Given the description of an element on the screen output the (x, y) to click on. 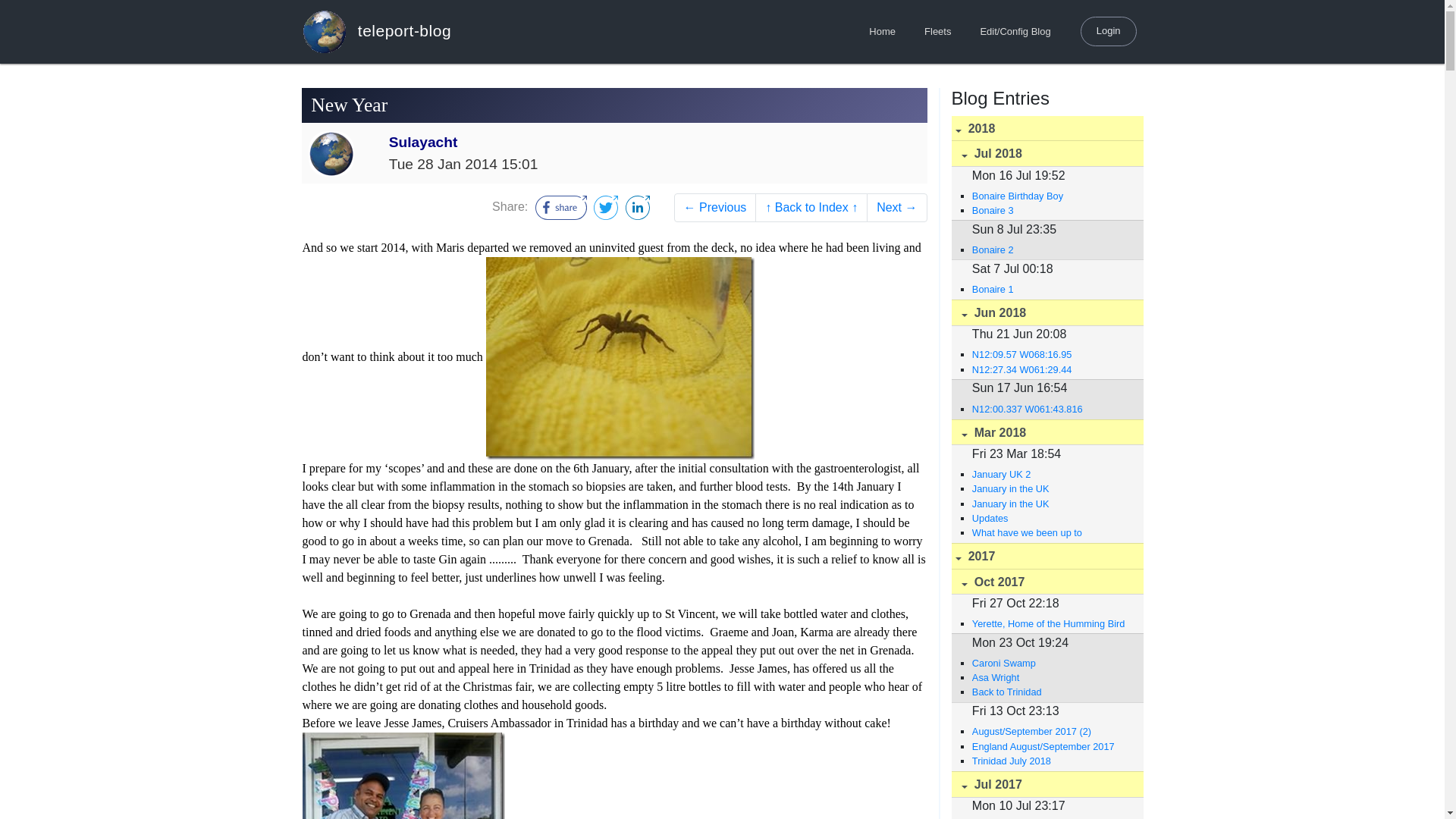
Mar 2018 (1046, 432)
Bonaire Birthday Boy (1050, 196)
N12:27.34 W061:29.44 (1050, 369)
January in the UK (1050, 488)
Bonaire 3 (1050, 210)
Login (1108, 30)
2017 (1046, 555)
What have we been up to (1050, 532)
Back to Trinidad (1050, 691)
N12:09.57 W068:16.95 (1050, 354)
